Given the description of an element on the screen output the (x, y) to click on. 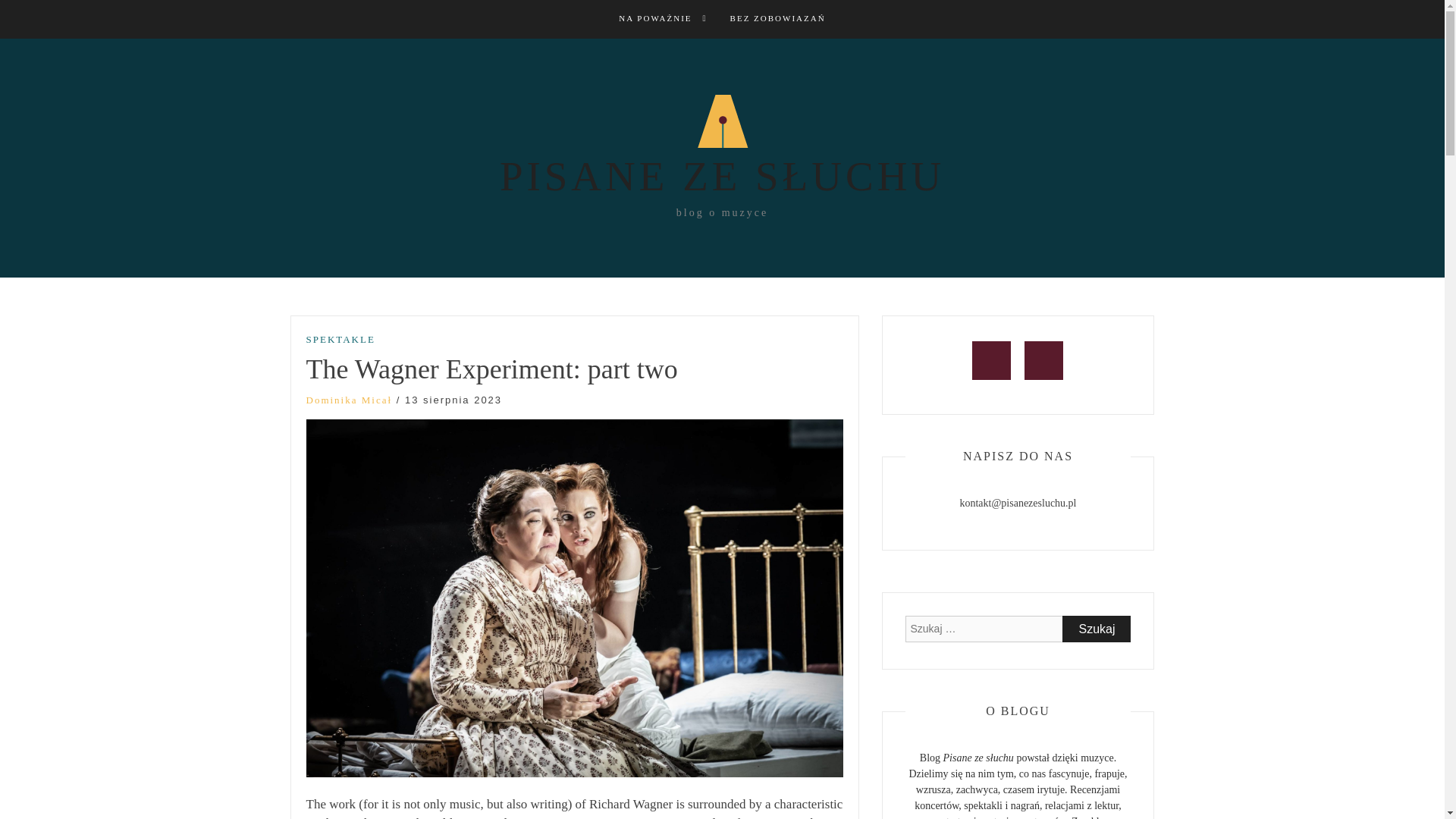
Szukaj (1096, 628)
SPEKTAKLE (340, 339)
Szukaj (1096, 628)
Szukaj (1096, 628)
